Given the description of an element on the screen output the (x, y) to click on. 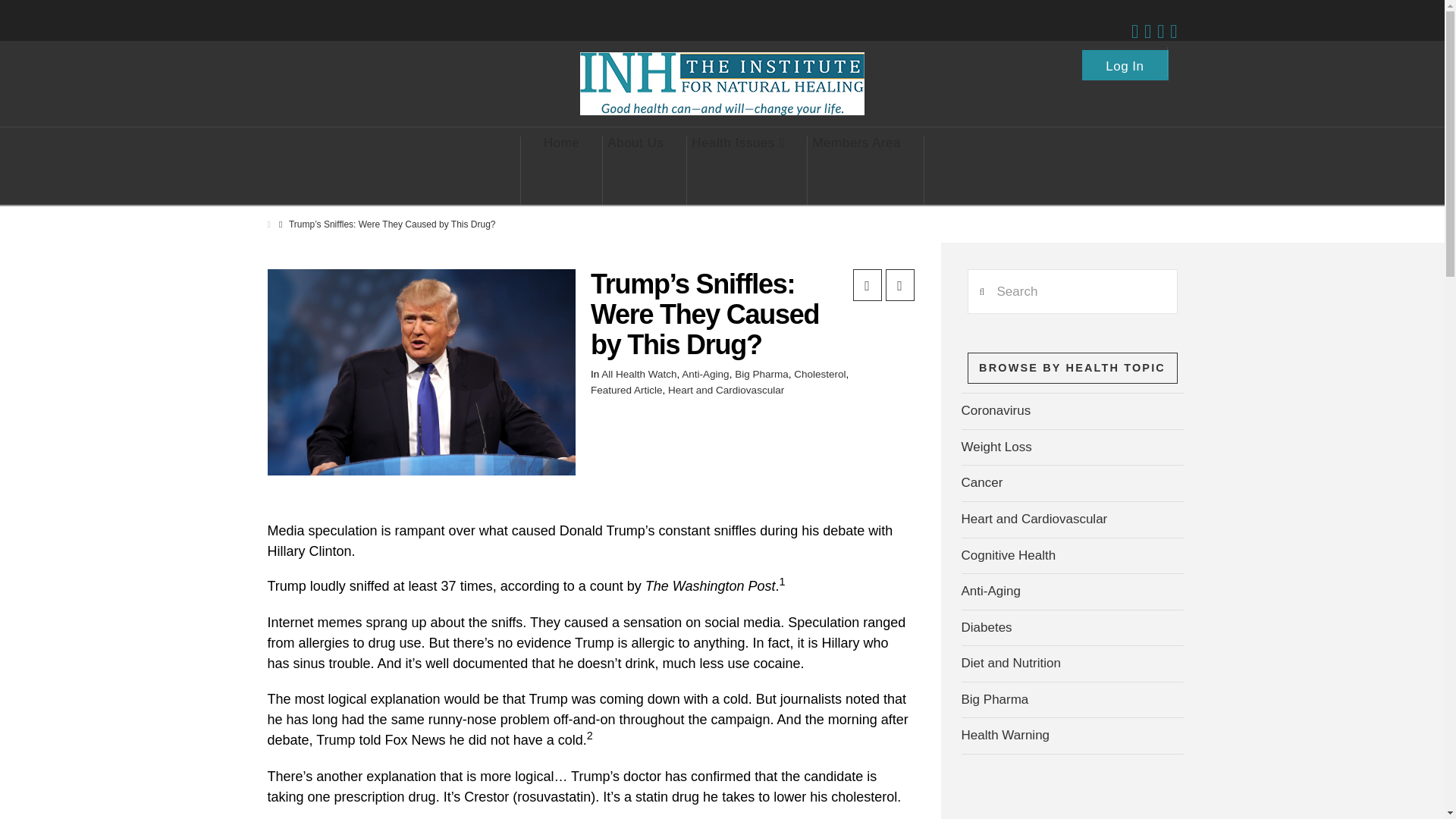
Natural Health Breakthroughs from Across the Globe (721, 83)
About Us (636, 170)
Home (560, 170)
Log In (1125, 61)
Members Area (856, 170)
Health Issues (738, 170)
